Given the description of an element on the screen output the (x, y) to click on. 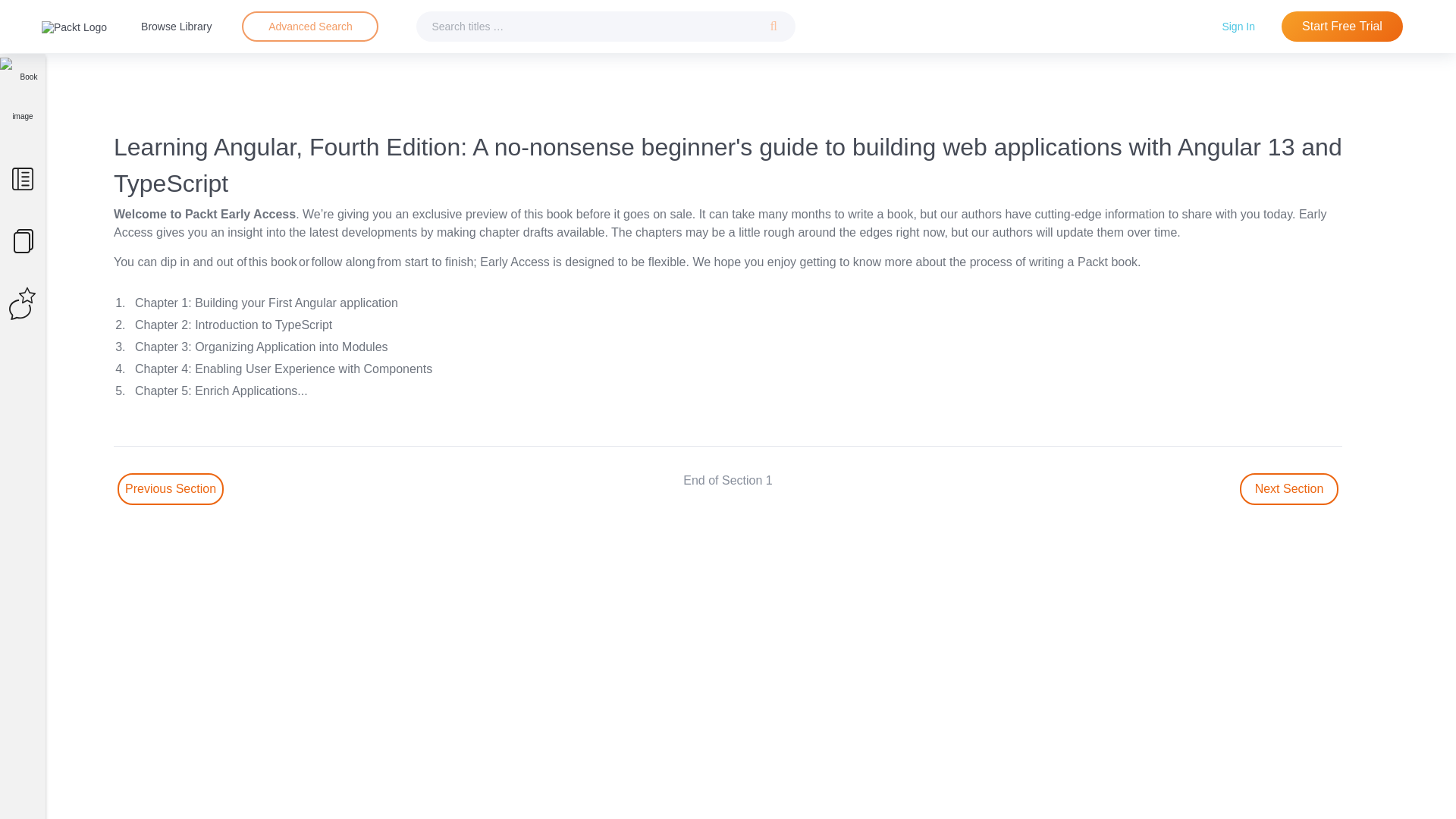
Start Free Trial (1342, 26)
Go to next section (1289, 489)
Sign In (1238, 26)
Go to Previous section (170, 489)
Advanced Search (309, 26)
Browse Library (175, 26)
Advanced Search (309, 26)
Advanced search (309, 26)
